Given the description of an element on the screen output the (x, y) to click on. 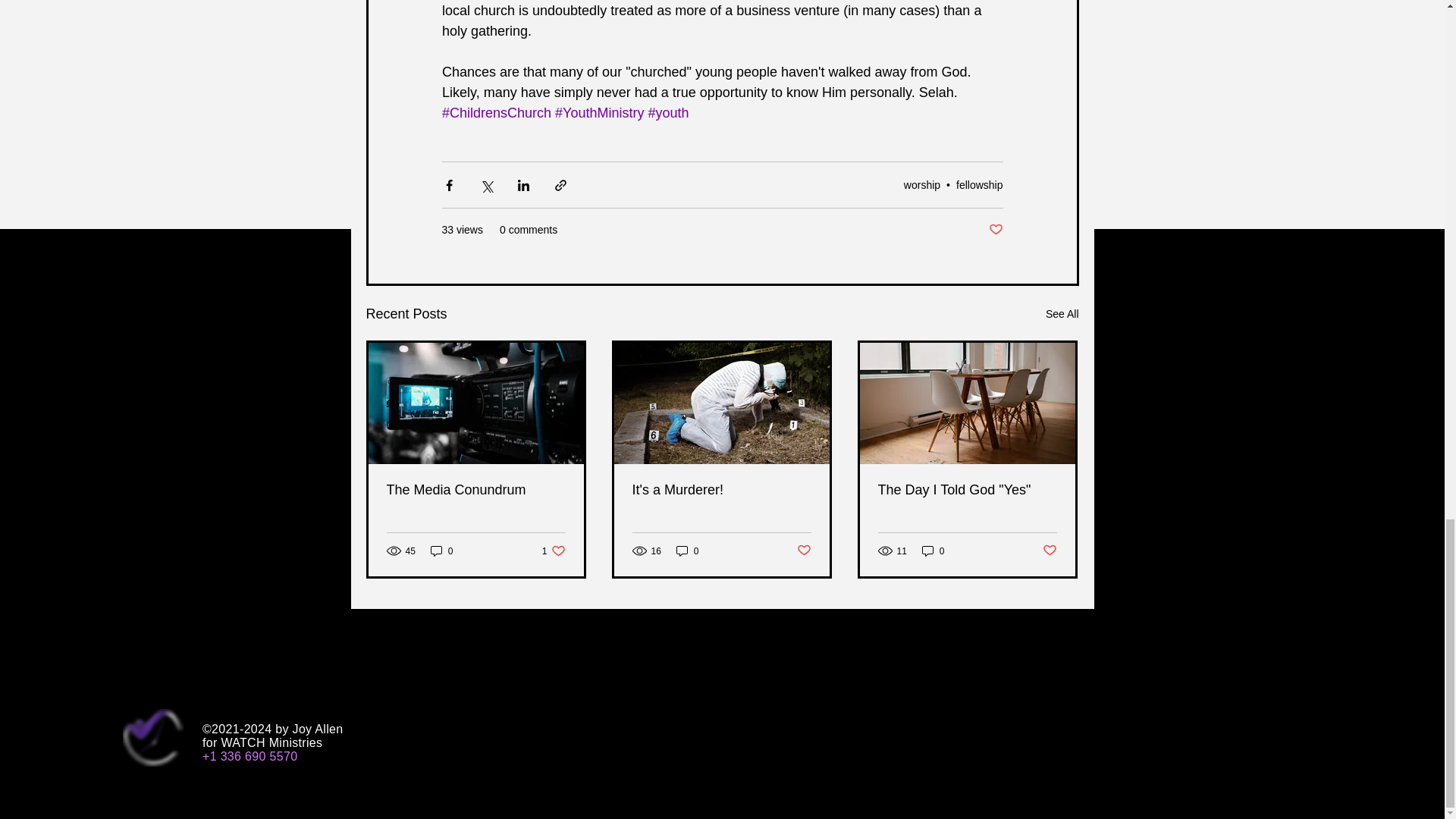
See All (1061, 314)
0 (553, 550)
The Media Conundrum (441, 550)
fellowship (476, 489)
worship (979, 184)
Post not marked as liked (922, 184)
